Given the description of an element on the screen output the (x, y) to click on. 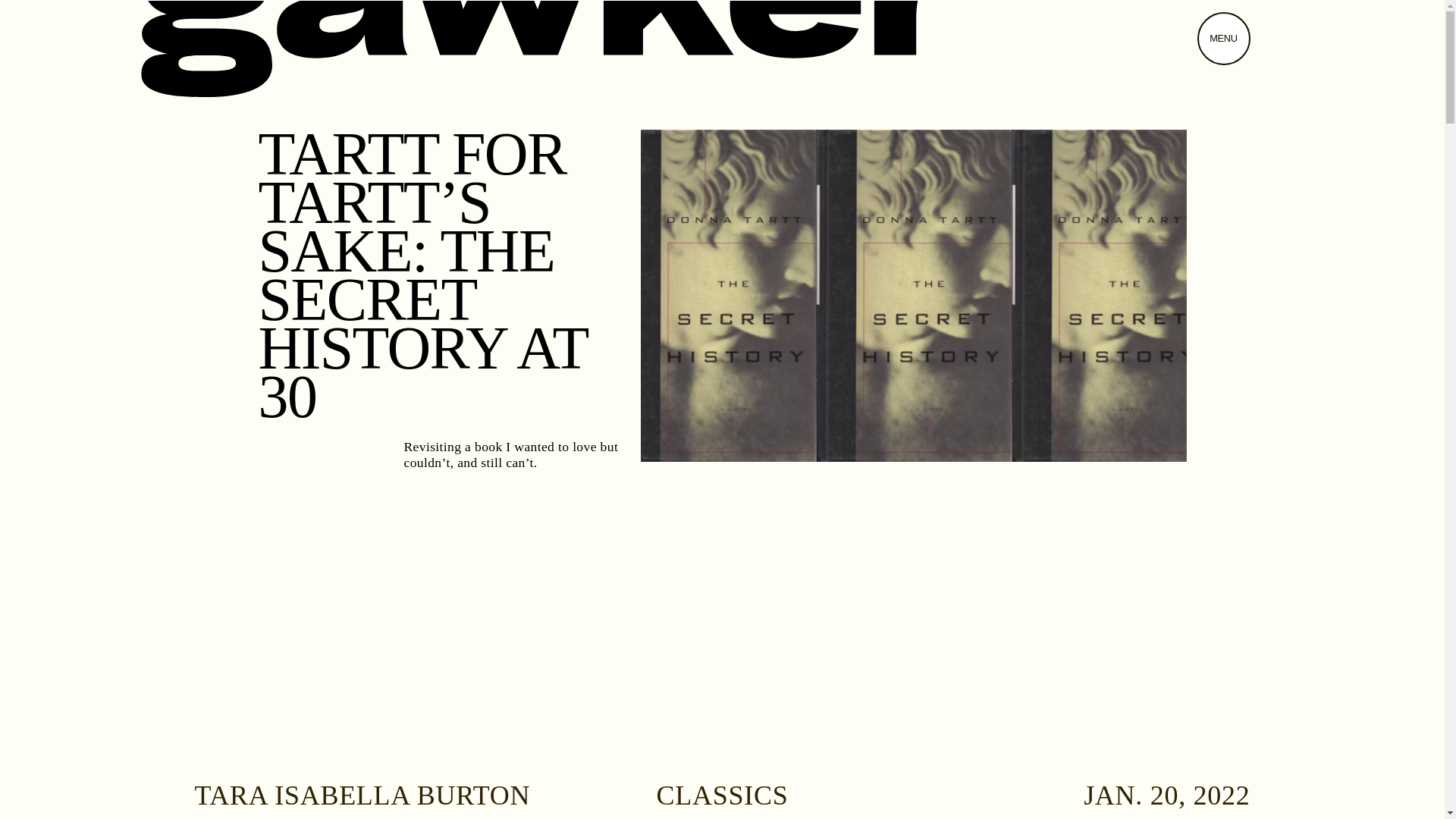
Gawker (552, 48)
